Given the description of an element on the screen output the (x, y) to click on. 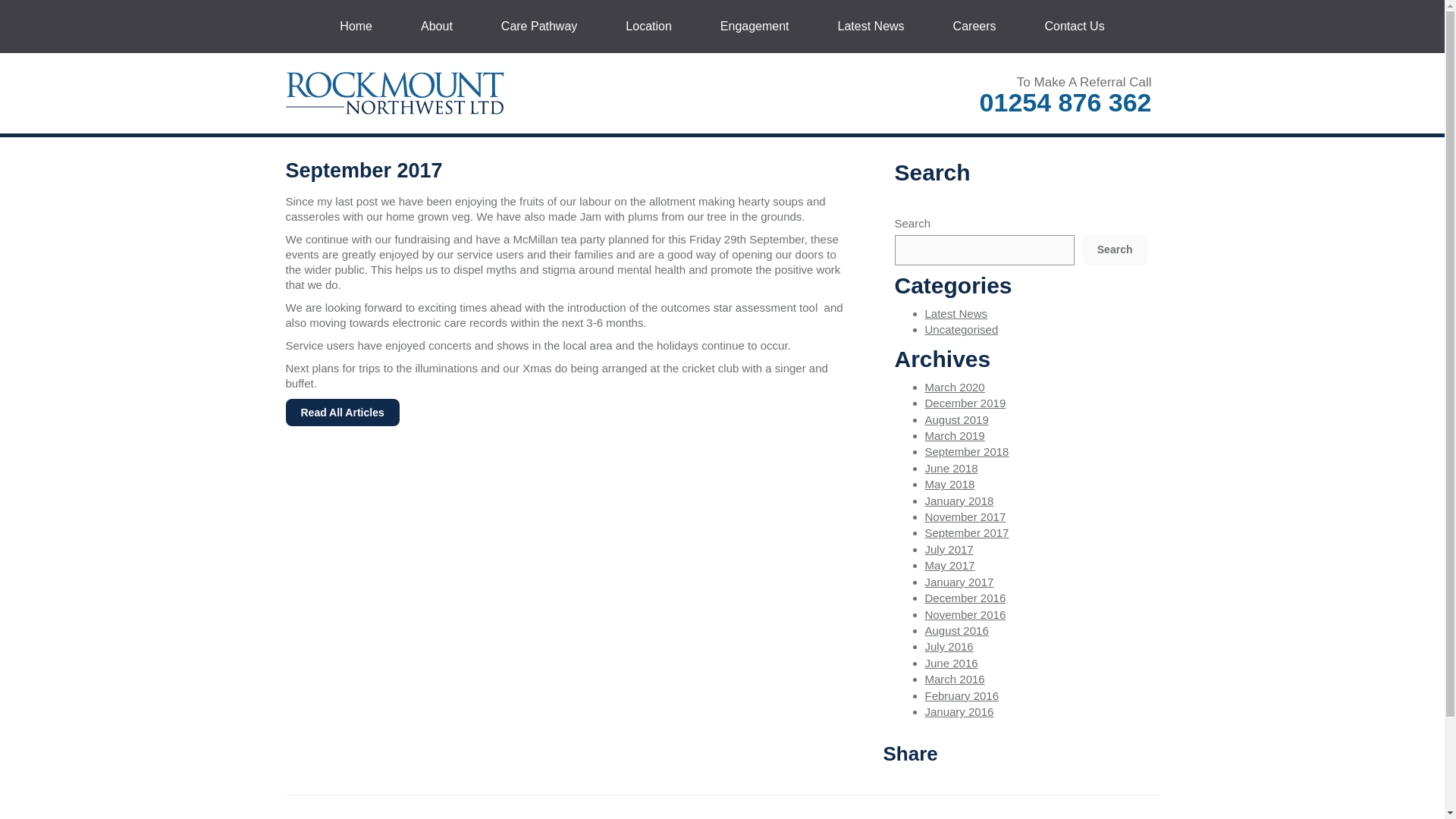
February 2016 (961, 695)
Latest News (870, 26)
June 2018 (951, 468)
December 2016 (965, 597)
Home (355, 26)
March 2020 (954, 386)
Uncategorised (961, 328)
About (436, 26)
June 2016 (951, 662)
visiting us (1015, 818)
